Given the description of an element on the screen output the (x, y) to click on. 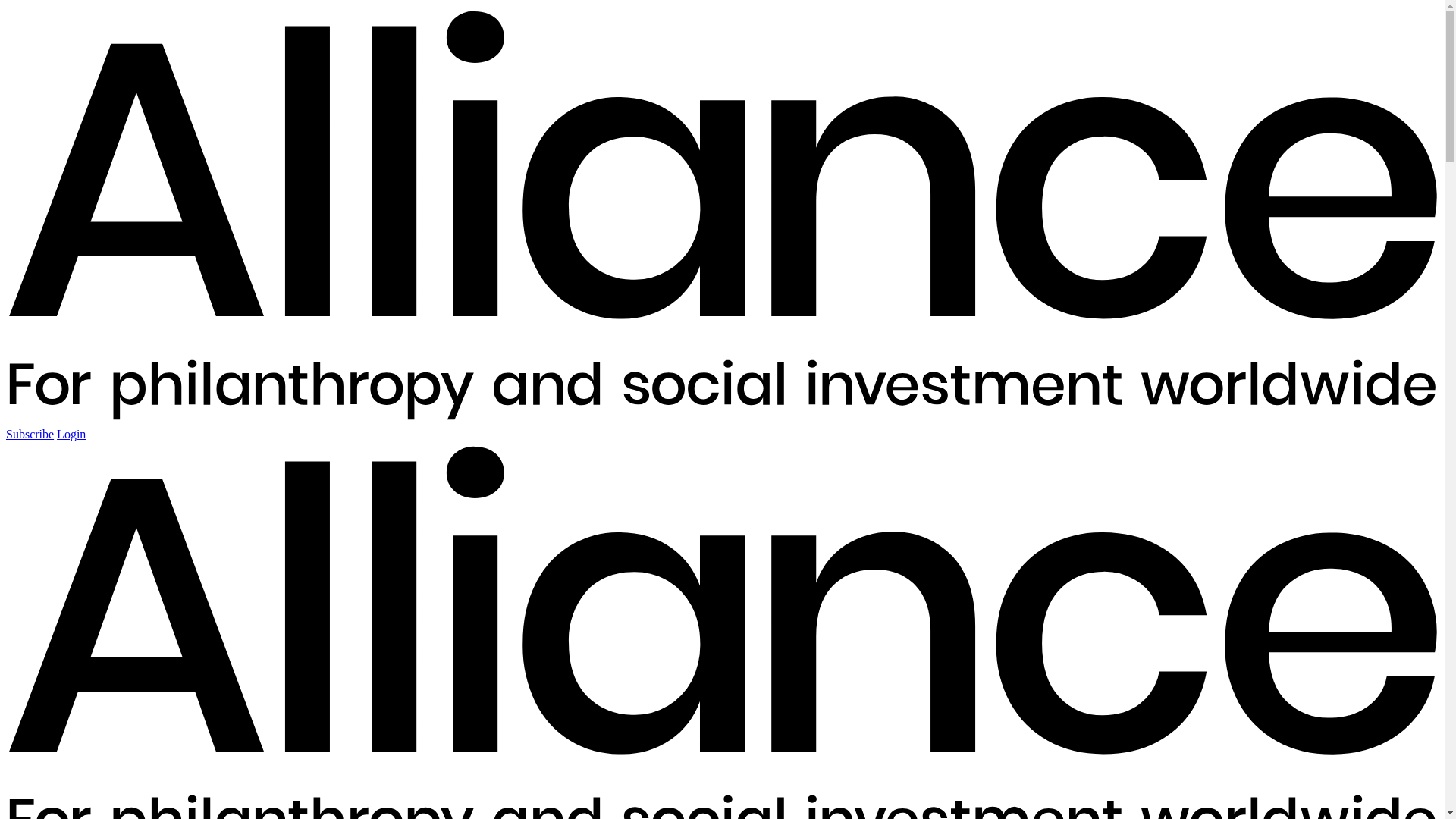
Subscribe (29, 433)
Login (70, 433)
